Given the description of an element on the screen output the (x, y) to click on. 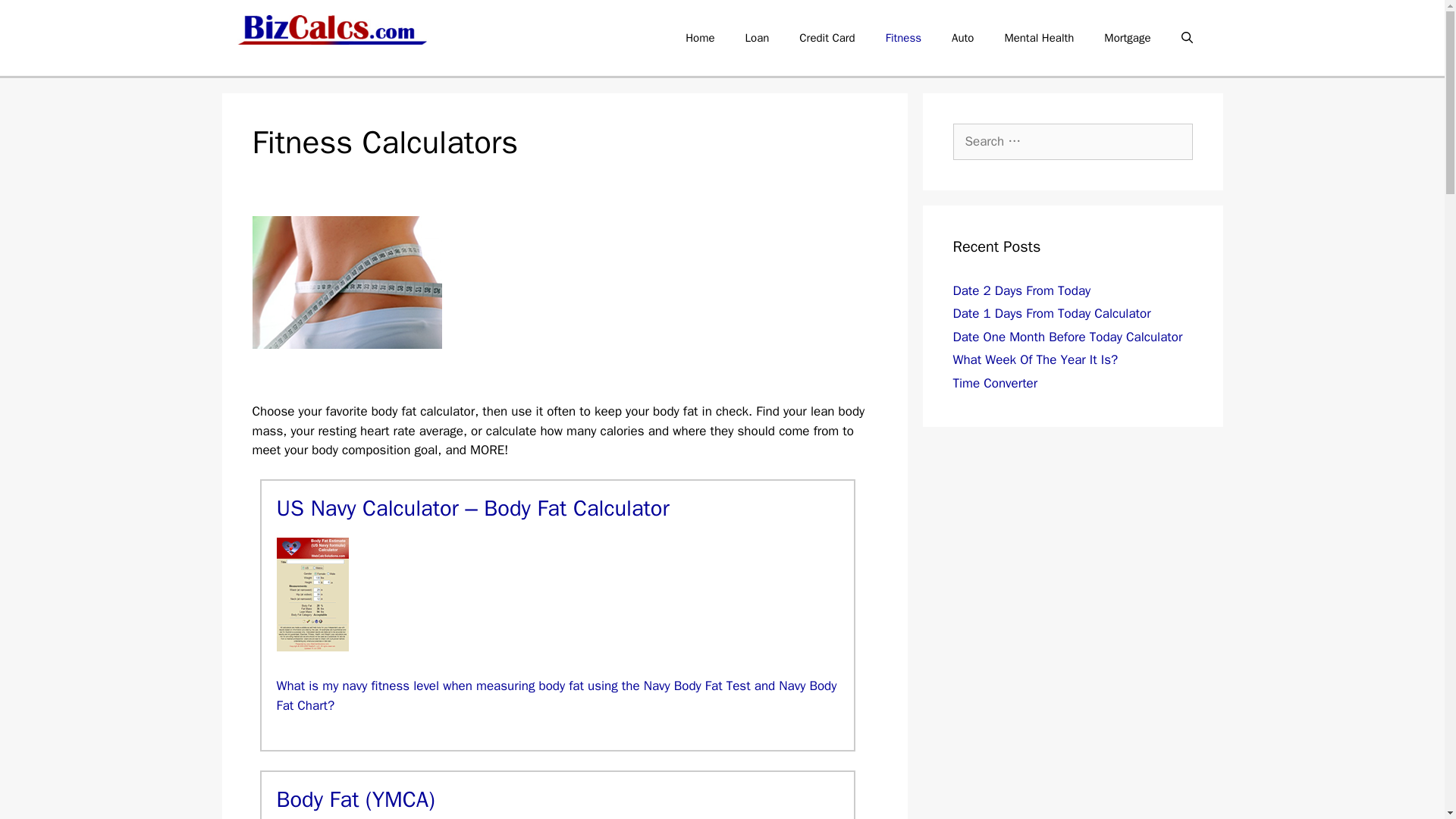
Fitness (903, 37)
Mental Health (1038, 37)
Auto (962, 37)
Search for: (1072, 141)
BizCalcs.com (330, 30)
Mortgage (1127, 37)
Loan (757, 37)
Home (699, 37)
Credit Card (826, 37)
BizCalcs.com (330, 28)
